Given the description of an element on the screen output the (x, y) to click on. 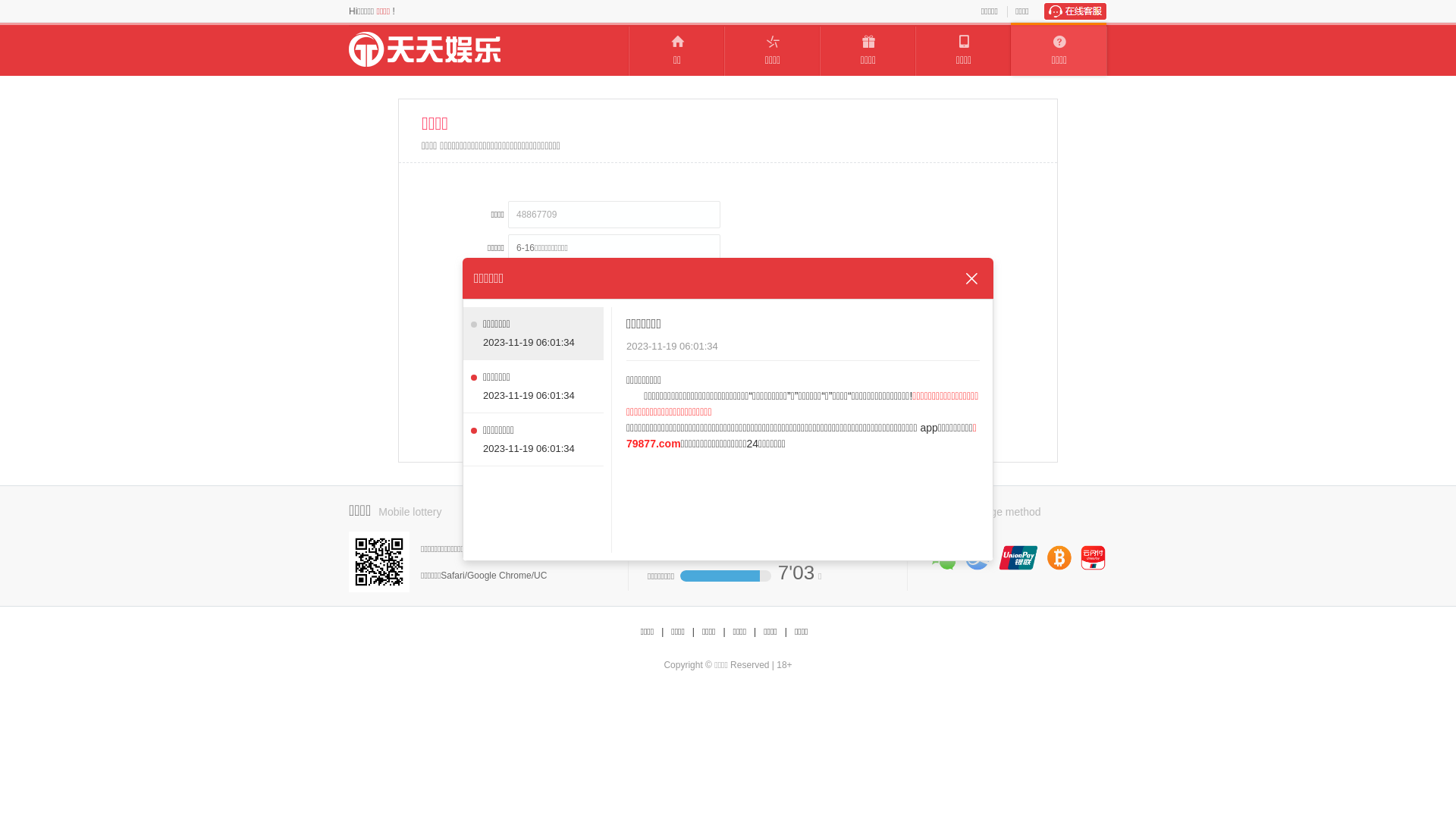
| Element type: text (785, 631)
| Element type: text (693, 631)
| Element type: text (754, 631)
| Element type: text (662, 631)
| Element type: text (723, 631)
